Given the description of an element on the screen output the (x, y) to click on. 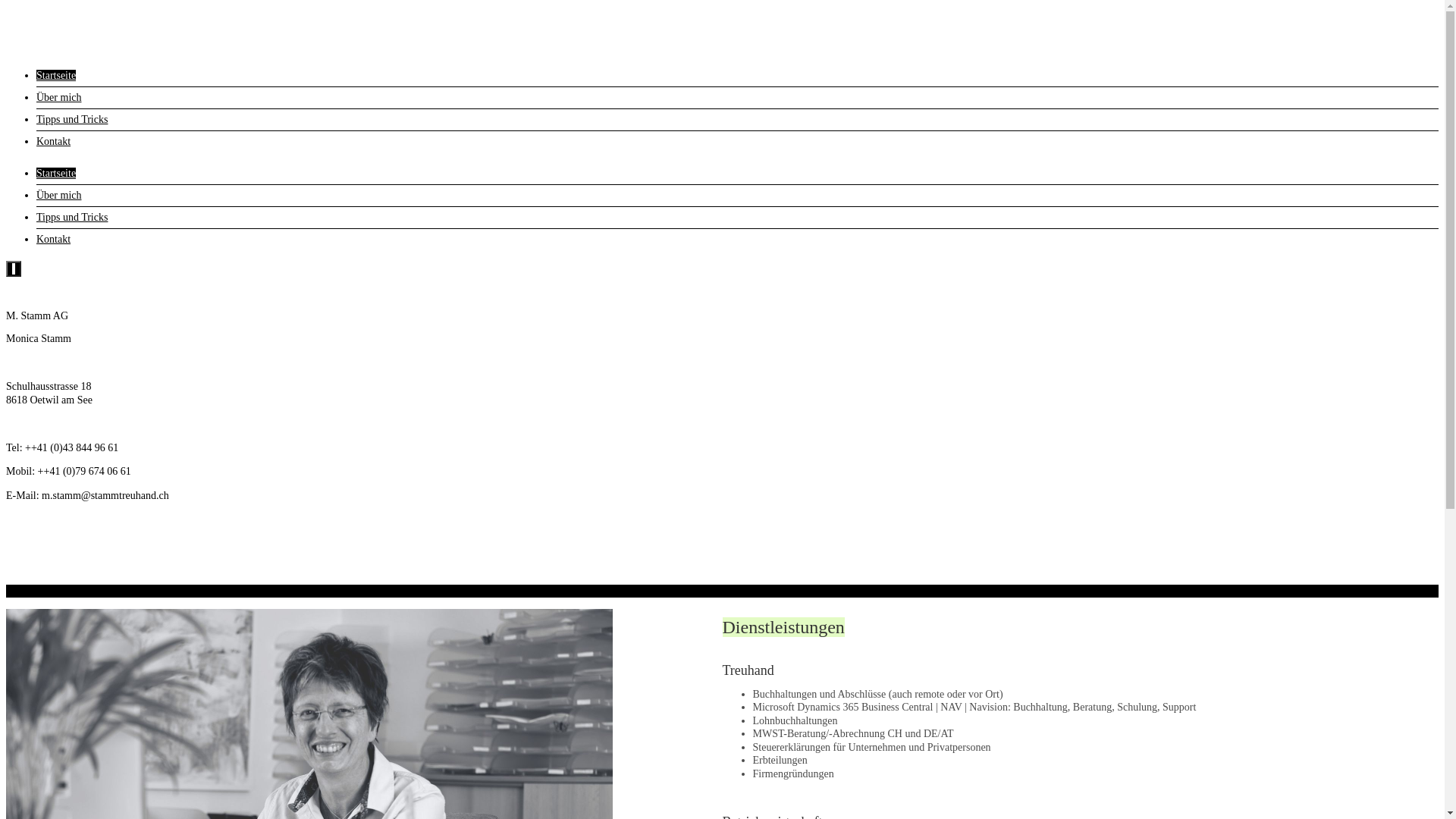
Tipps und Tricks Element type: text (71, 216)
Startseite Element type: text (55, 172)
Startseite Element type: text (55, 75)
Tipps und Tricks Element type: text (71, 119)
  Element type: text (13, 268)
Kontakt Element type: text (53, 140)
Kontakt Element type: text (53, 238)
